Given the description of an element on the screen output the (x, y) to click on. 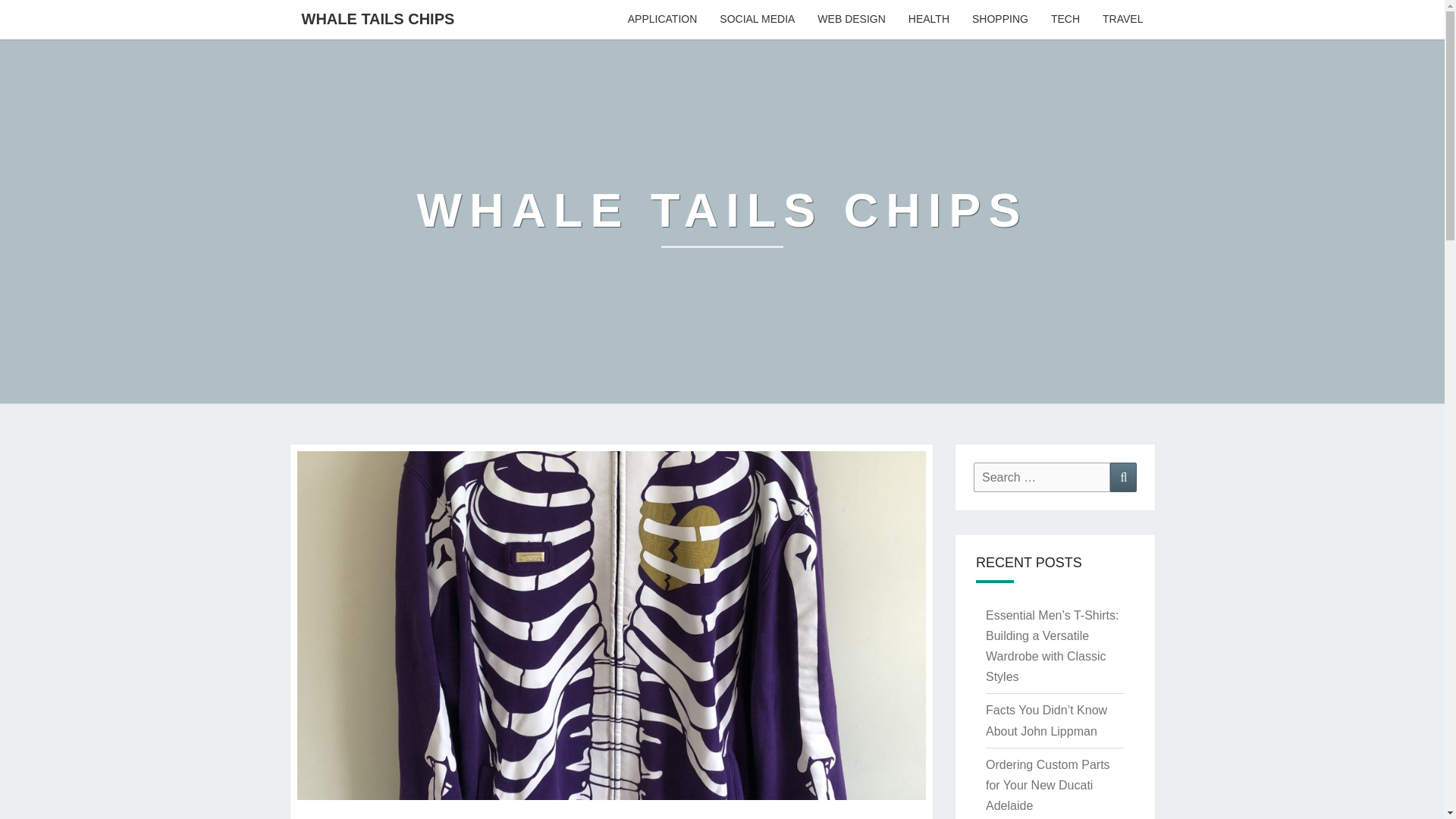
TECH (1064, 19)
SHOPPING (999, 19)
Ordering Custom Parts for Your New Ducati Adelaide (1047, 785)
APPLICATION (662, 19)
Whale Tails Chips (721, 220)
TRAVEL (1122, 19)
WEB DESIGN (851, 19)
WHALE TAILS CHIPS (377, 18)
SOCIAL MEDIA (756, 19)
WHALE TAILS CHIPS (721, 220)
